Given the description of an element on the screen output the (x, y) to click on. 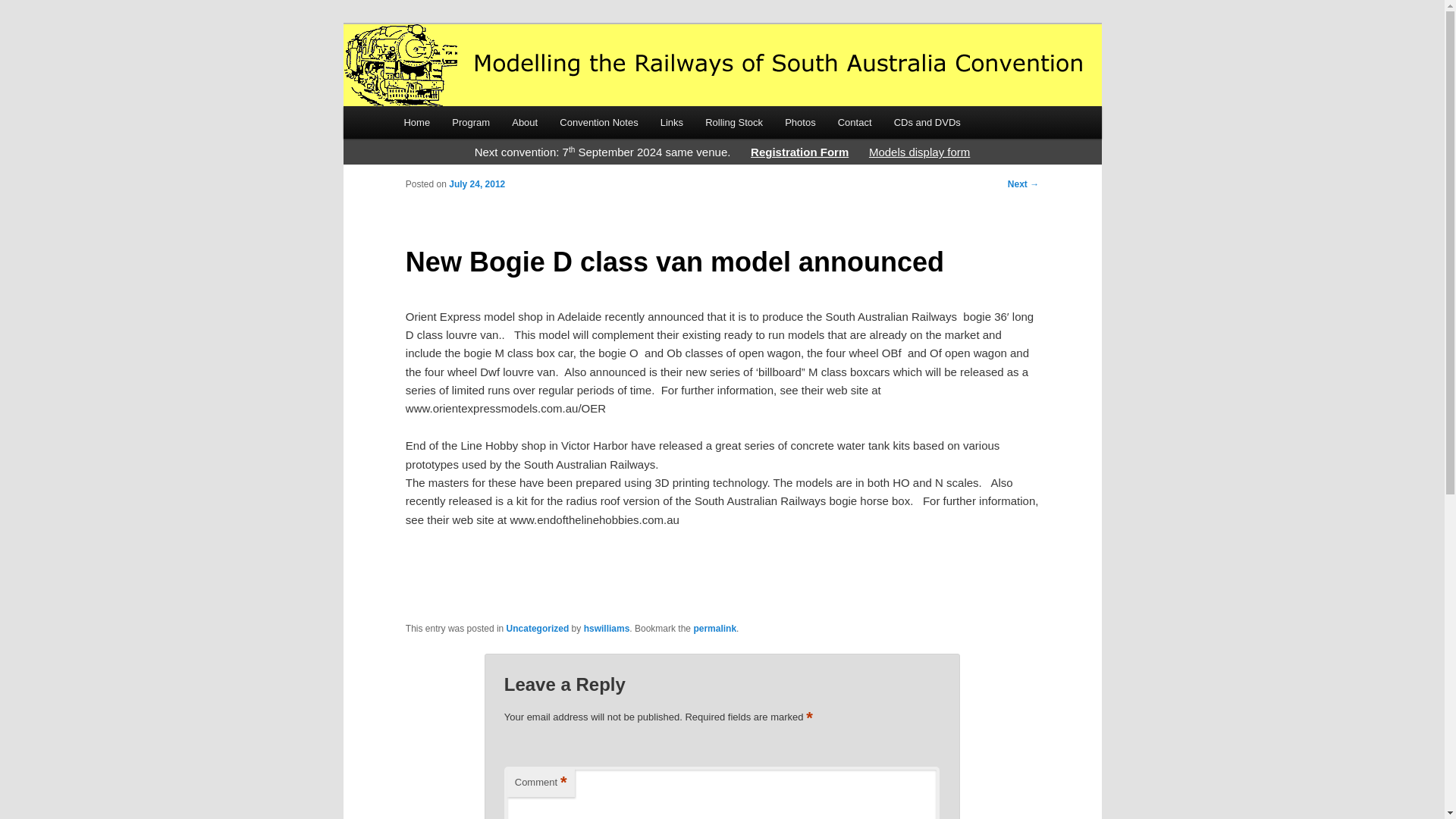
CDs and DVDs (926, 122)
Program (470, 122)
Convention Notes (598, 122)
Permalink to New Bogie D class van model announced (714, 628)
7:58 pm (476, 184)
Rolling Stock (734, 122)
Contact (854, 122)
About (524, 122)
Registration Form (799, 151)
Models display form (919, 151)
Links (671, 122)
Modelling the Railways of South Australia (625, 78)
Uncategorized (537, 628)
Photos (800, 122)
